Given the description of an element on the screen output the (x, y) to click on. 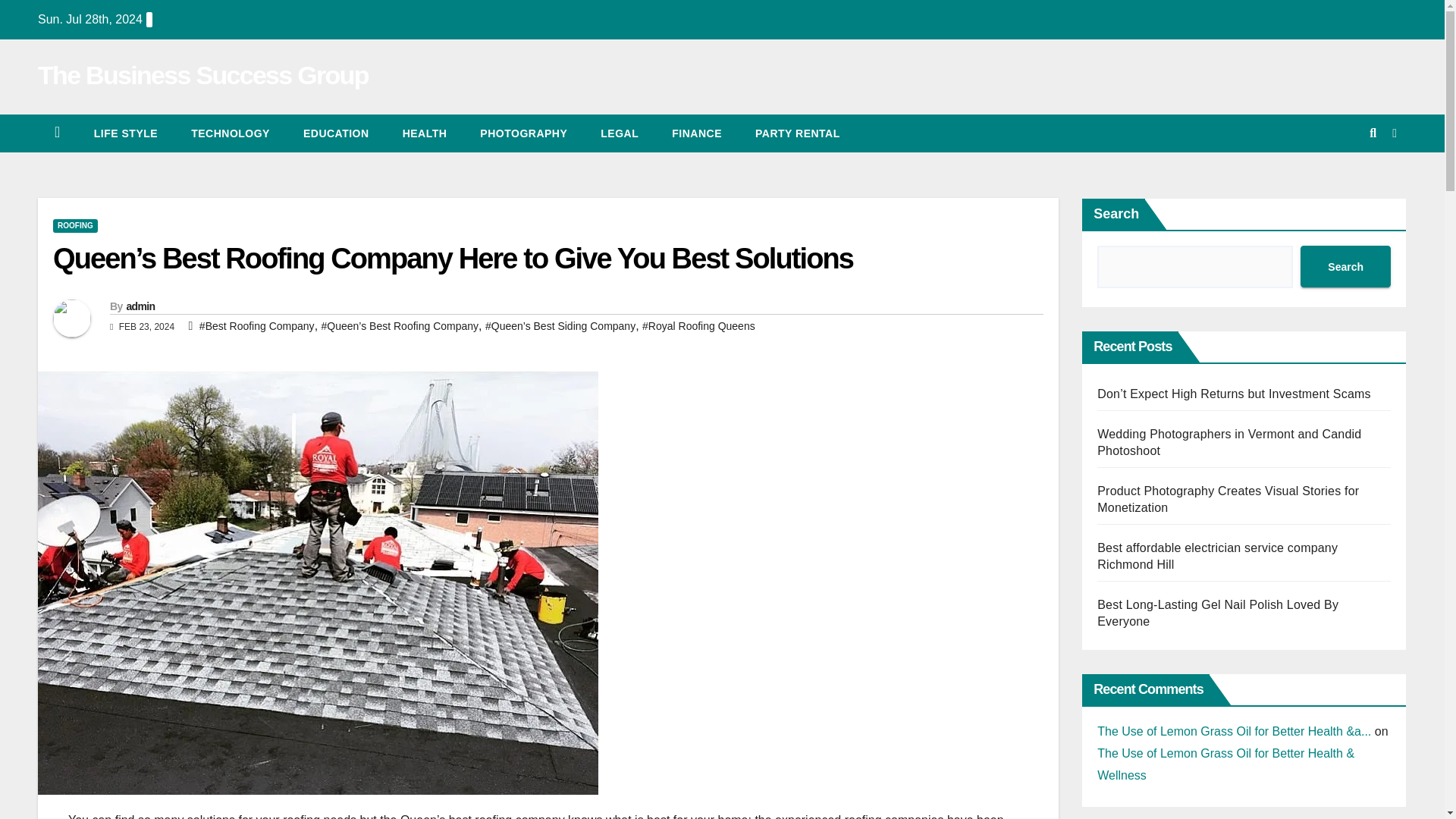
Technology (230, 133)
LEGAL (619, 133)
Finance (696, 133)
FINANCE (696, 133)
LIFE STYLE (125, 133)
The Business Success Group (202, 74)
TECHNOLOGY (230, 133)
EDUCATION (335, 133)
Party Rental (797, 133)
HEALTH (424, 133)
Health (424, 133)
Photography (523, 133)
Education (335, 133)
PHOTOGRAPHY (523, 133)
Legal (619, 133)
